Given the description of an element on the screen output the (x, y) to click on. 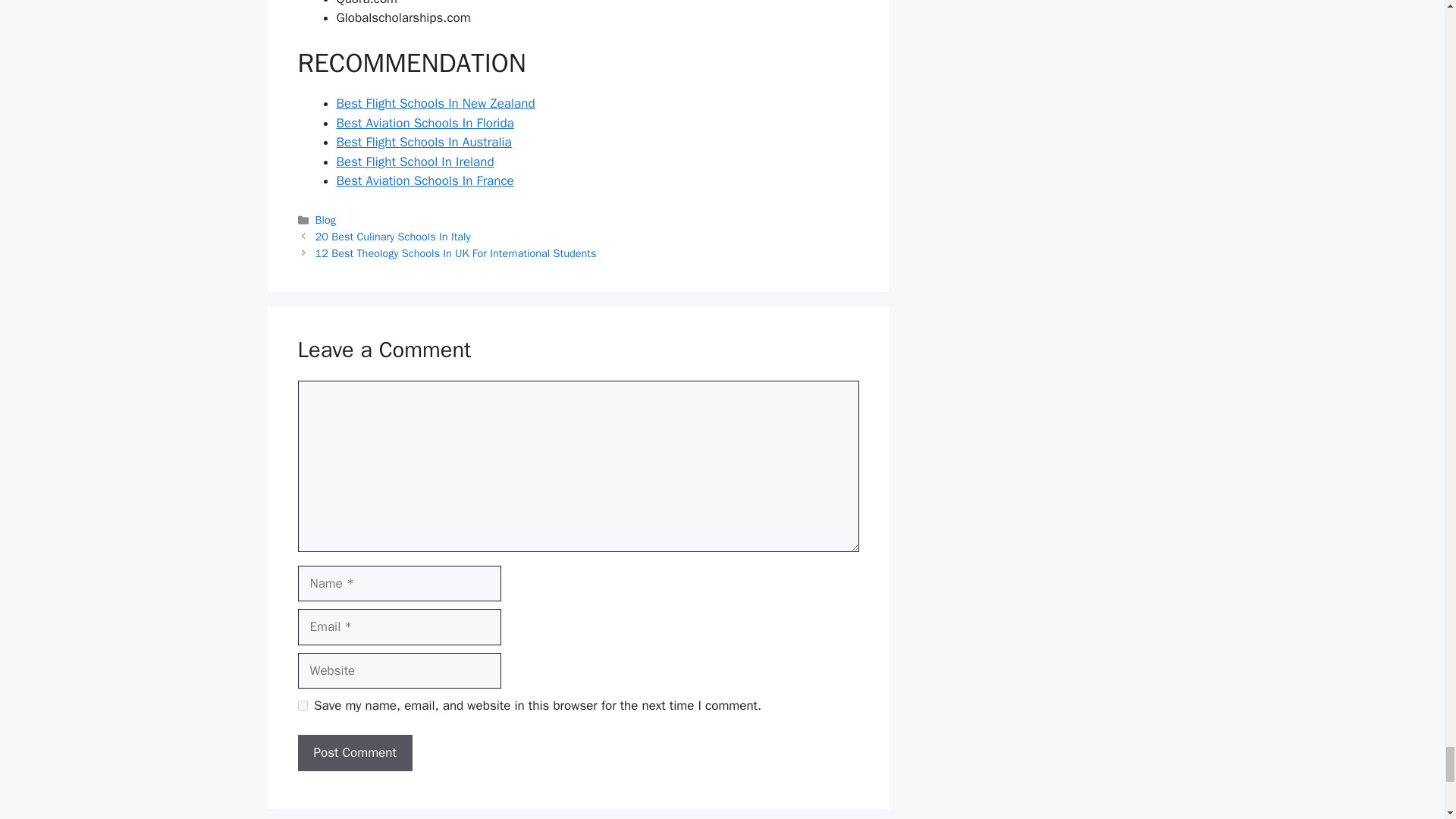
Post Comment (354, 752)
yes (302, 705)
